Given the description of an element on the screen output the (x, y) to click on. 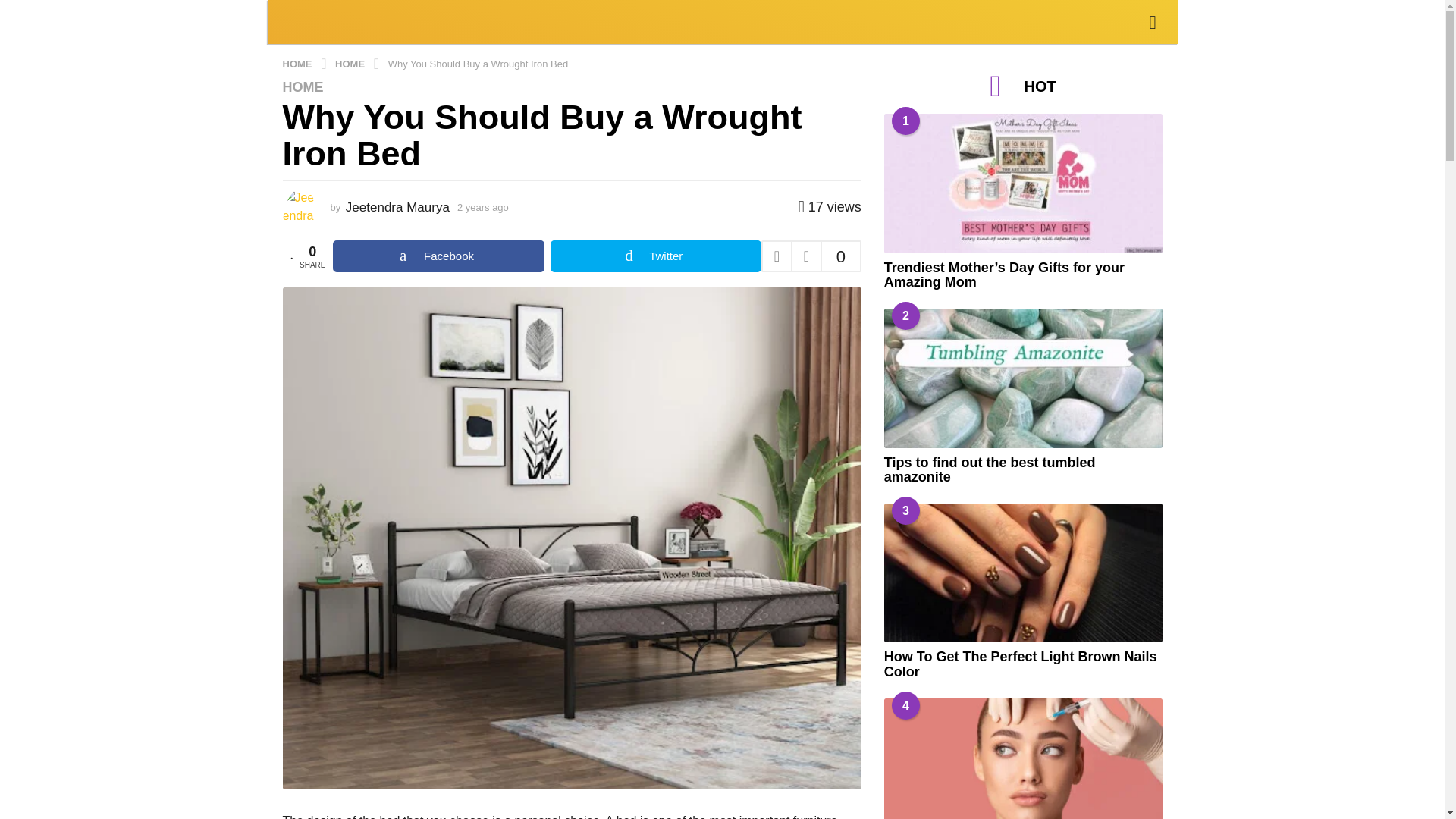
Facebook (438, 255)
HOME (298, 62)
HOME (351, 62)
HOME (302, 87)
Why You Should Buy a Wrought Iron Bed (478, 62)
Jeetendra Maurya (397, 206)
Twitter (655, 255)
Share on Twitter (655, 255)
Share on Facebook (438, 255)
